Given the description of an element on the screen output the (x, y) to click on. 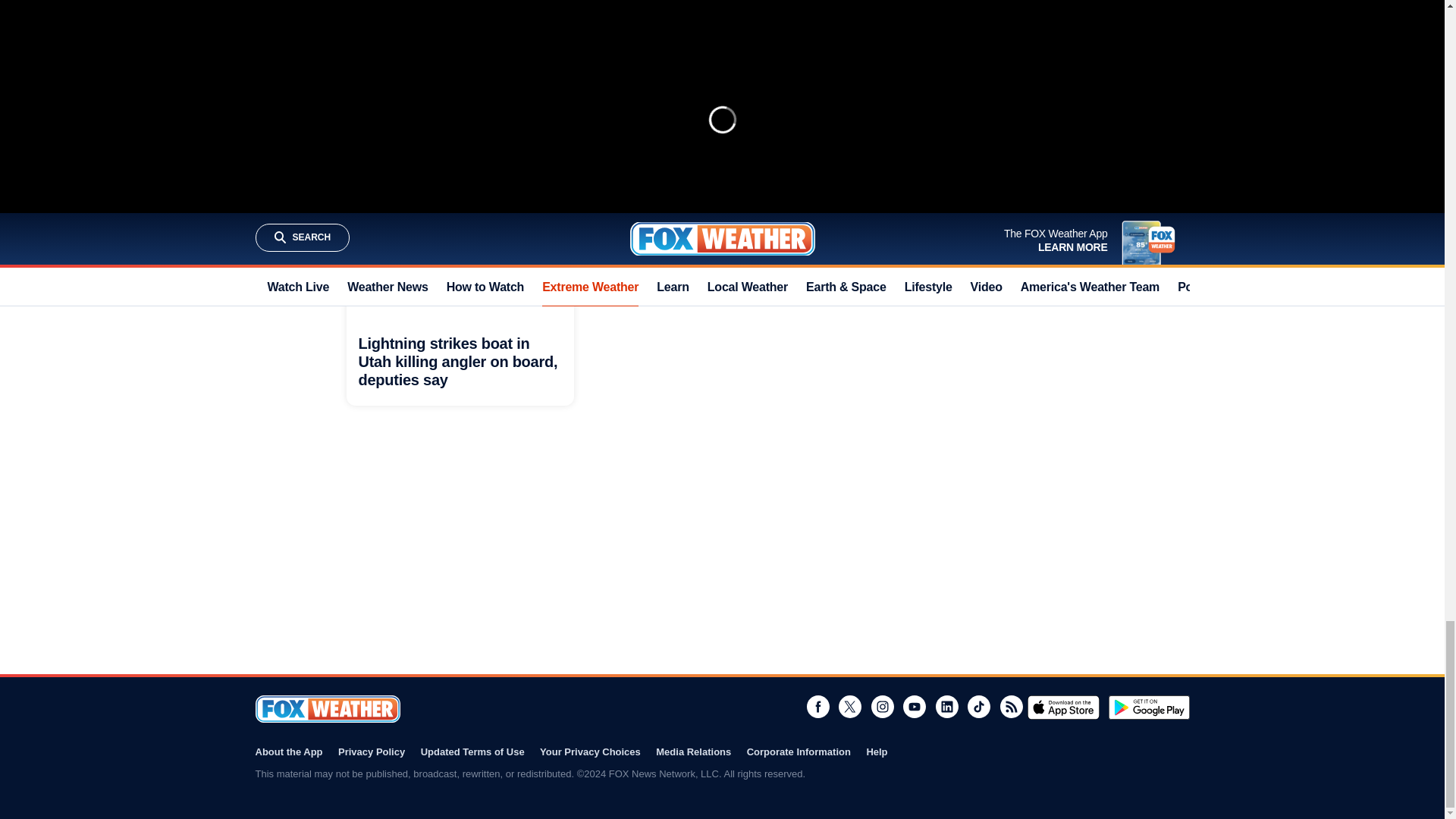
What is an El Nino weather pattern (682, 139)
HEAT WAVE (691, 222)
WORLD (637, 222)
